Given the description of an element on the screen output the (x, y) to click on. 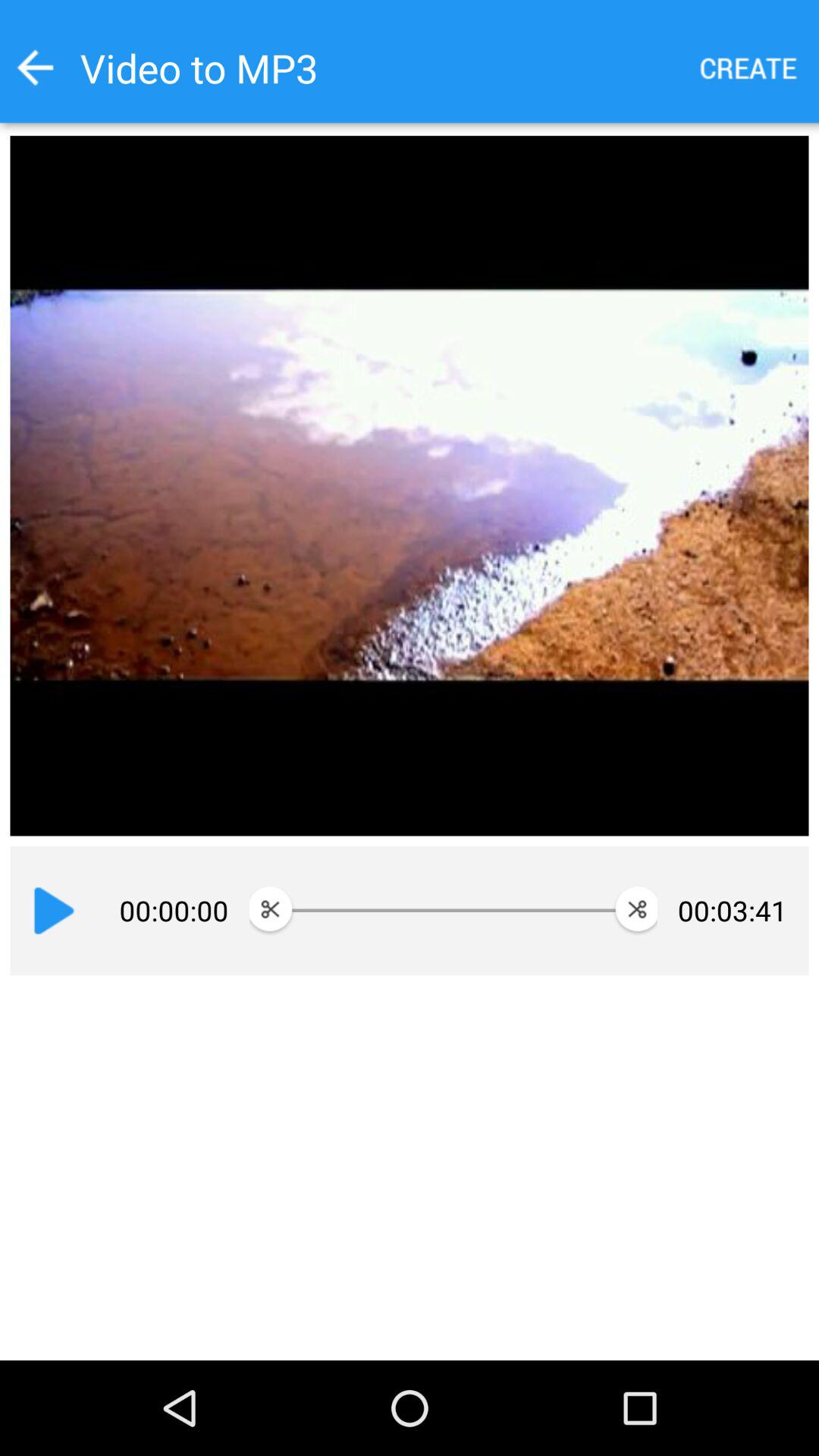
go back (35, 67)
